Given the description of an element on the screen output the (x, y) to click on. 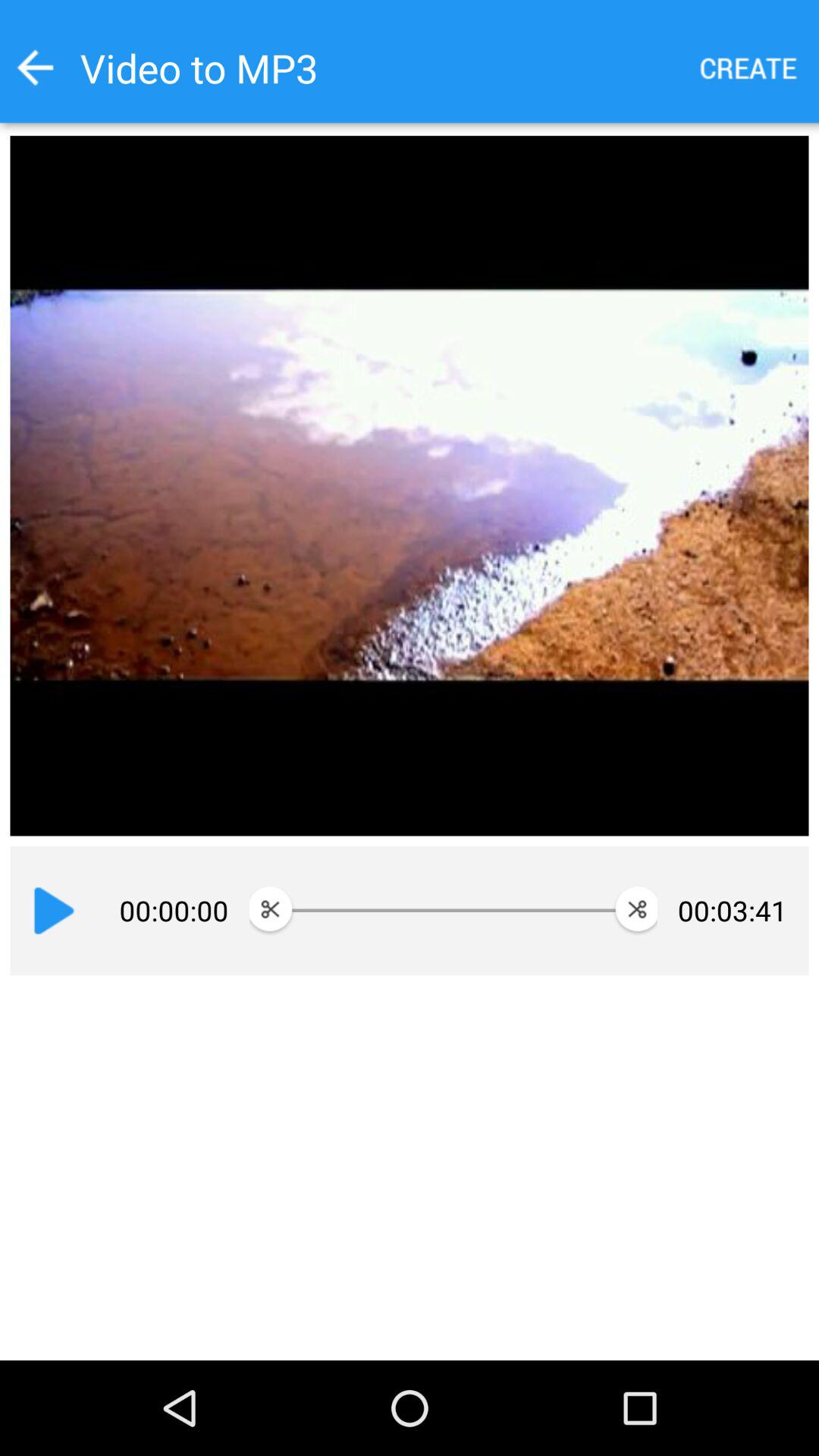
go back (35, 67)
